Given the description of an element on the screen output the (x, y) to click on. 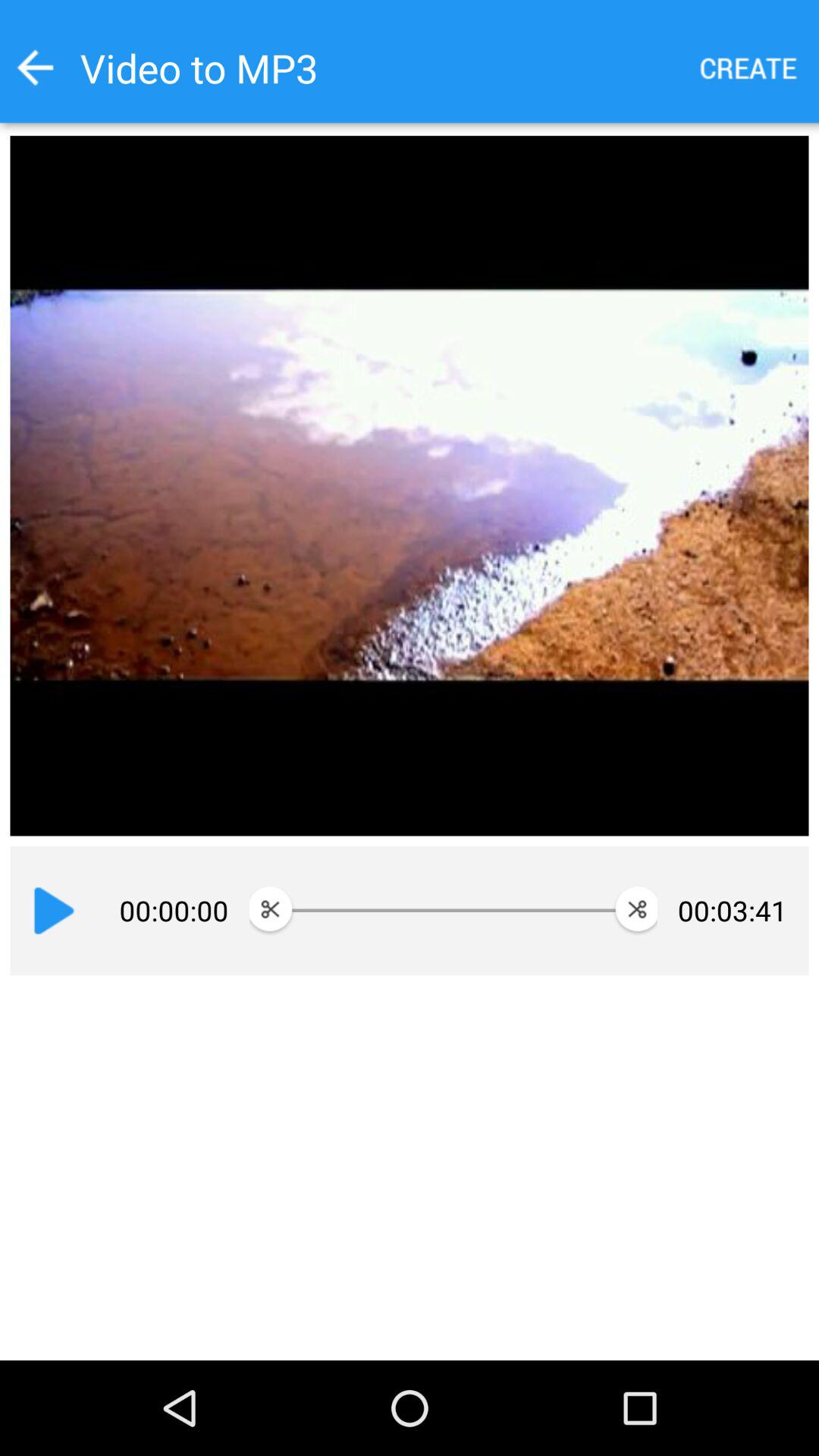
go back (35, 67)
